Given the description of an element on the screen output the (x, y) to click on. 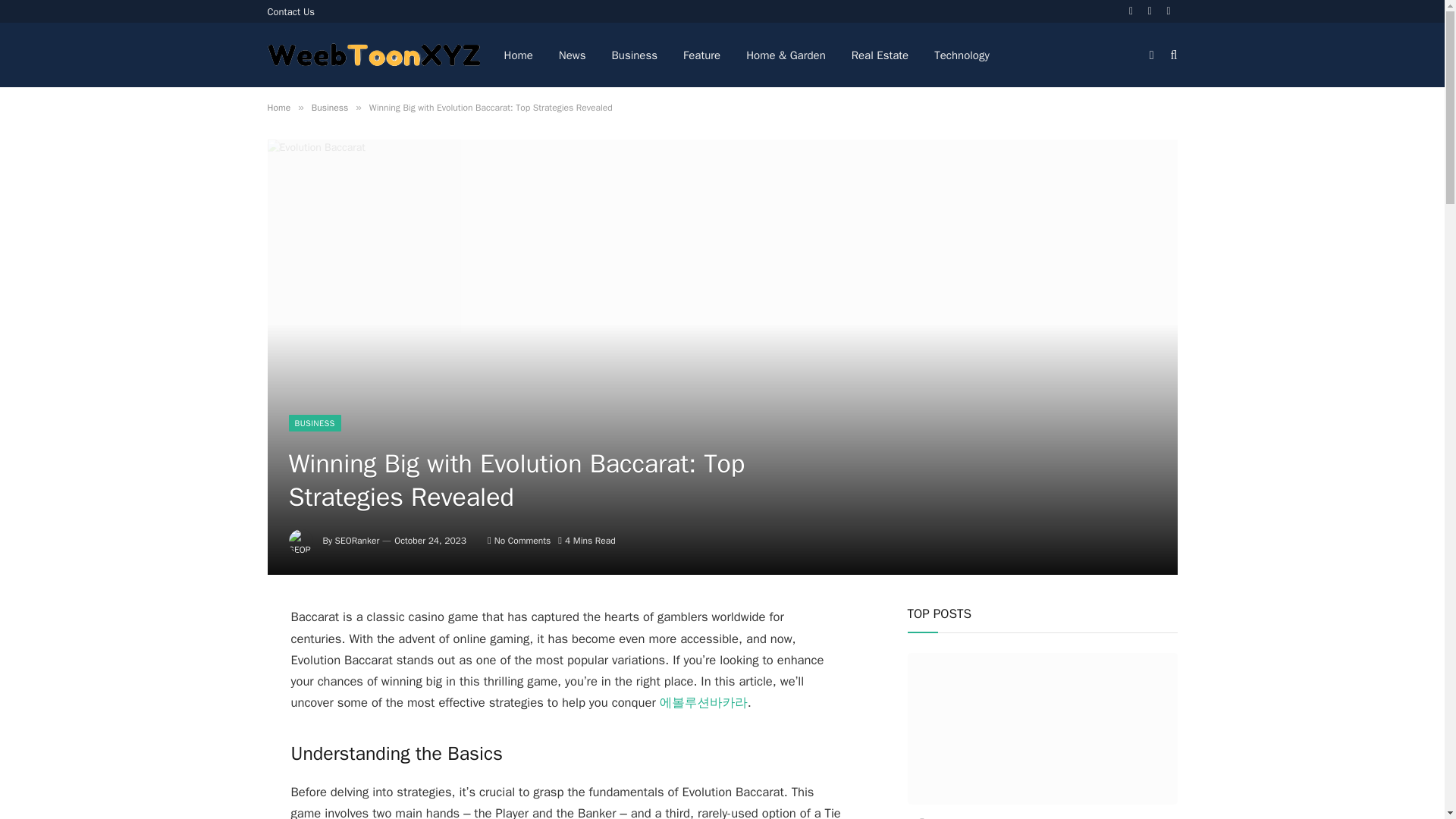
Technology (962, 54)
Contact Us (290, 11)
Posts by SEORanker (357, 540)
Home (277, 107)
Business (329, 107)
Switch to Dark Design - easier on eyes. (1151, 54)
Real Estate (879, 54)
Business (634, 54)
Feature (701, 54)
